Given the description of an element on the screen output the (x, y) to click on. 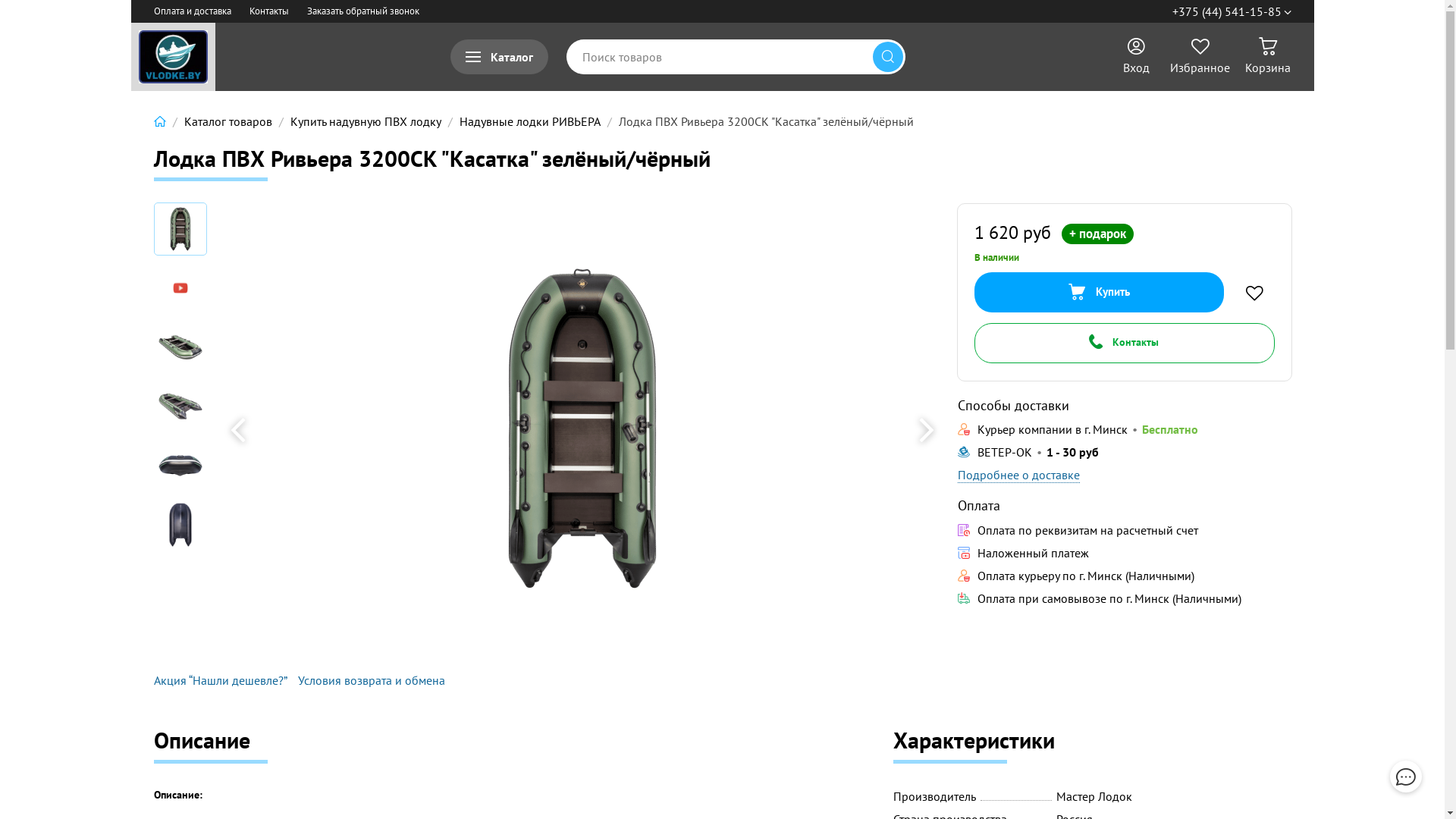
+375 (44) 541-15-85 Element type: text (1231, 10)
vlodke.by Element type: hover (172, 56)
